Given the description of an element on the screen output the (x, y) to click on. 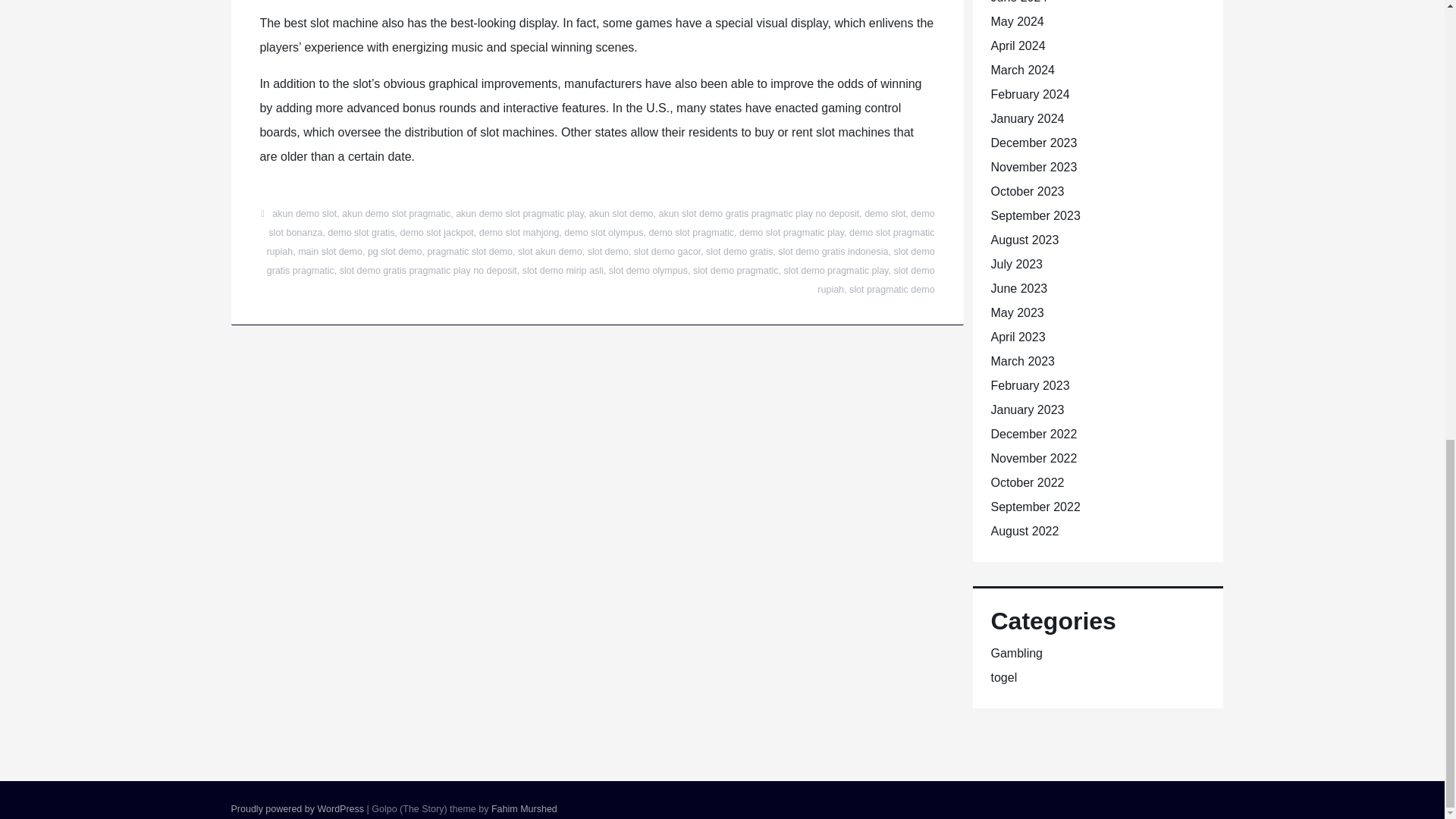
demo slot mahjong (519, 232)
slot demo gratis pragmatic (600, 261)
demo slot olympus (603, 232)
slot demo pragmatic play (835, 270)
demo slot jackpot (437, 232)
demo slot pragmatic rupiah (600, 242)
slot demo gratis (739, 251)
slot demo olympus (647, 270)
slot demo gratis pragmatic play no deposit (427, 270)
akun slot demo gratis pragmatic play no deposit (758, 213)
akun slot demo (621, 213)
slot akun demo (550, 251)
akun demo slot pragmatic play (519, 213)
slot demo gacor (666, 251)
akun demo slot pragmatic (395, 213)
